Given the description of an element on the screen output the (x, y) to click on. 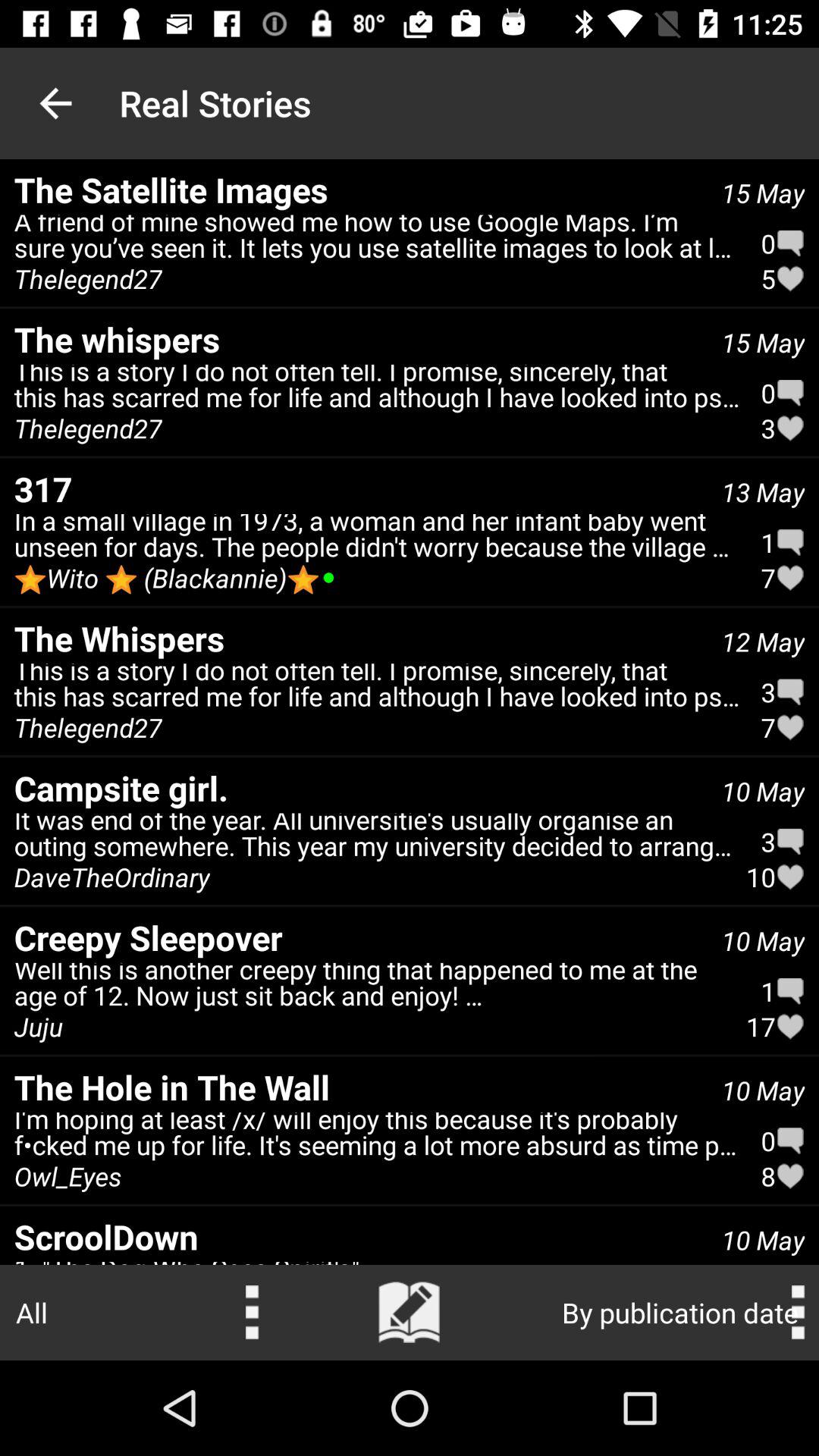
white a post (409, 1312)
